Given the description of an element on the screen output the (x, y) to click on. 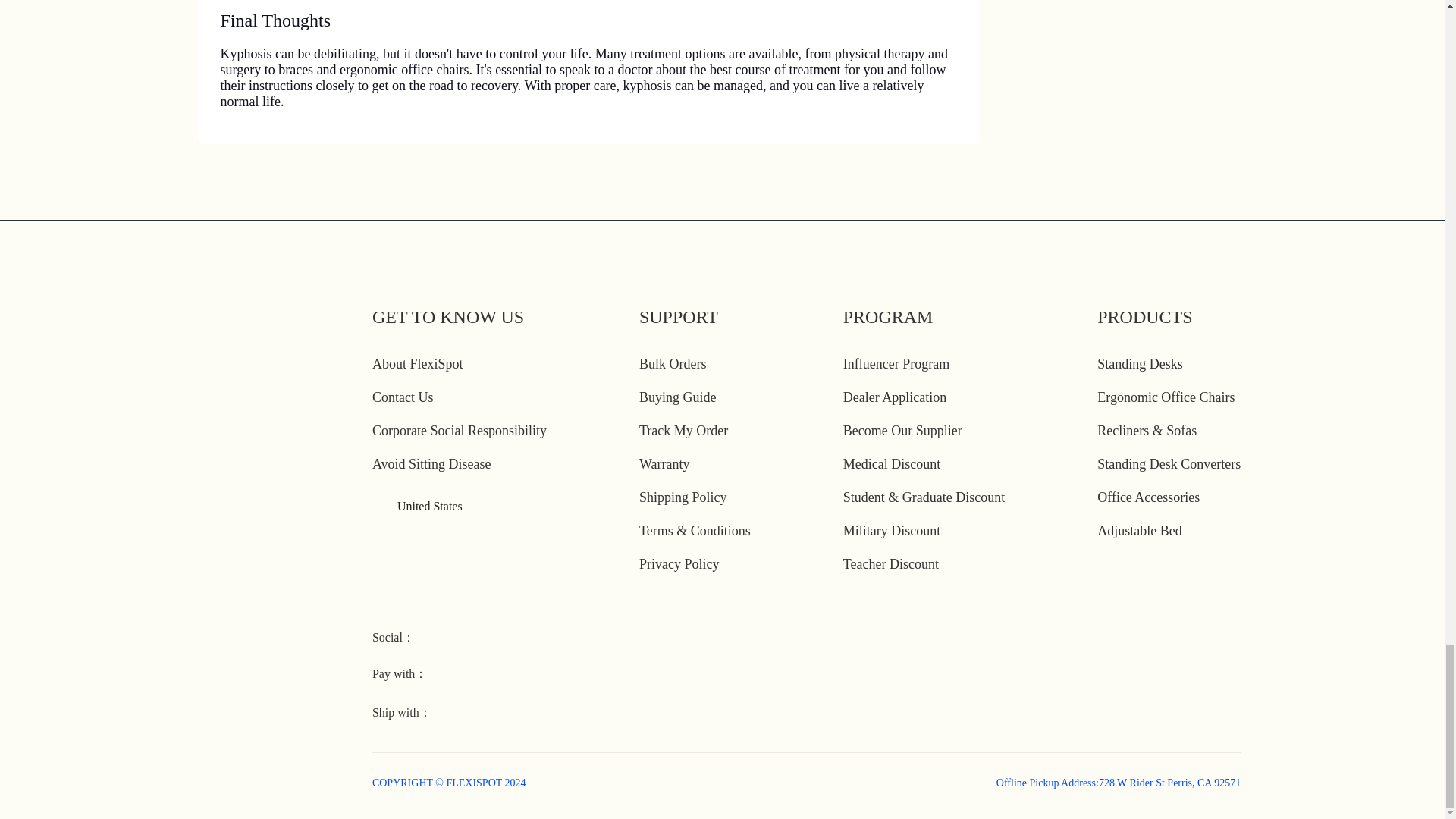
Contact Us (402, 396)
Privacy Policy (679, 563)
Become Our Supplier (902, 430)
Standing Desks (1139, 363)
Teacher Discount (891, 563)
Bulk Orders (672, 363)
Track My Order (683, 430)
Influencer Program (896, 363)
Buying Guide (677, 396)
Avoid Sitting Disease (432, 463)
